Given the description of an element on the screen output the (x, y) to click on. 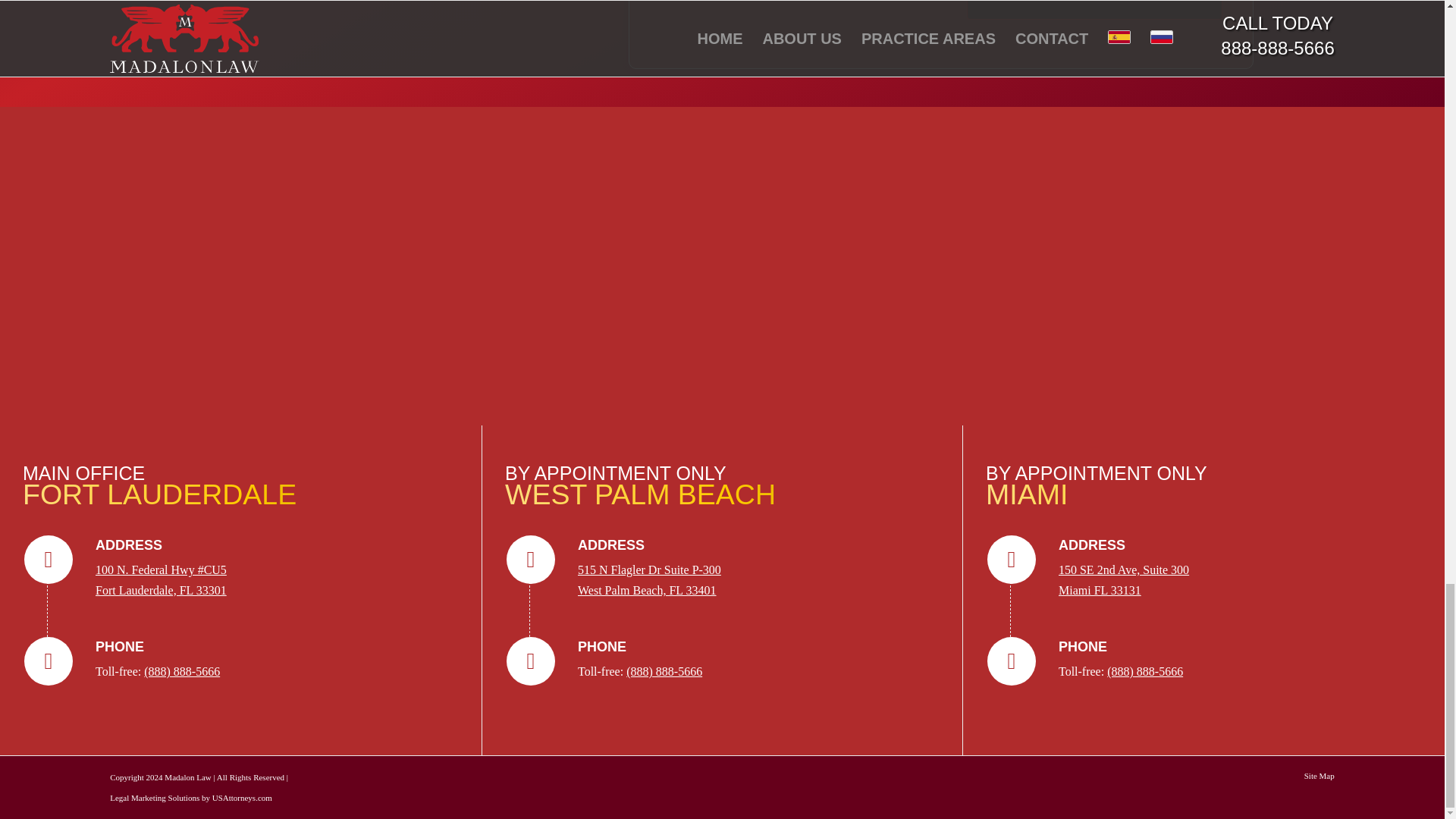
Site Map (1319, 775)
USAttorneys.com (1123, 579)
Legal Marketing Solutions (242, 797)
